Given the description of an element on the screen output the (x, y) to click on. 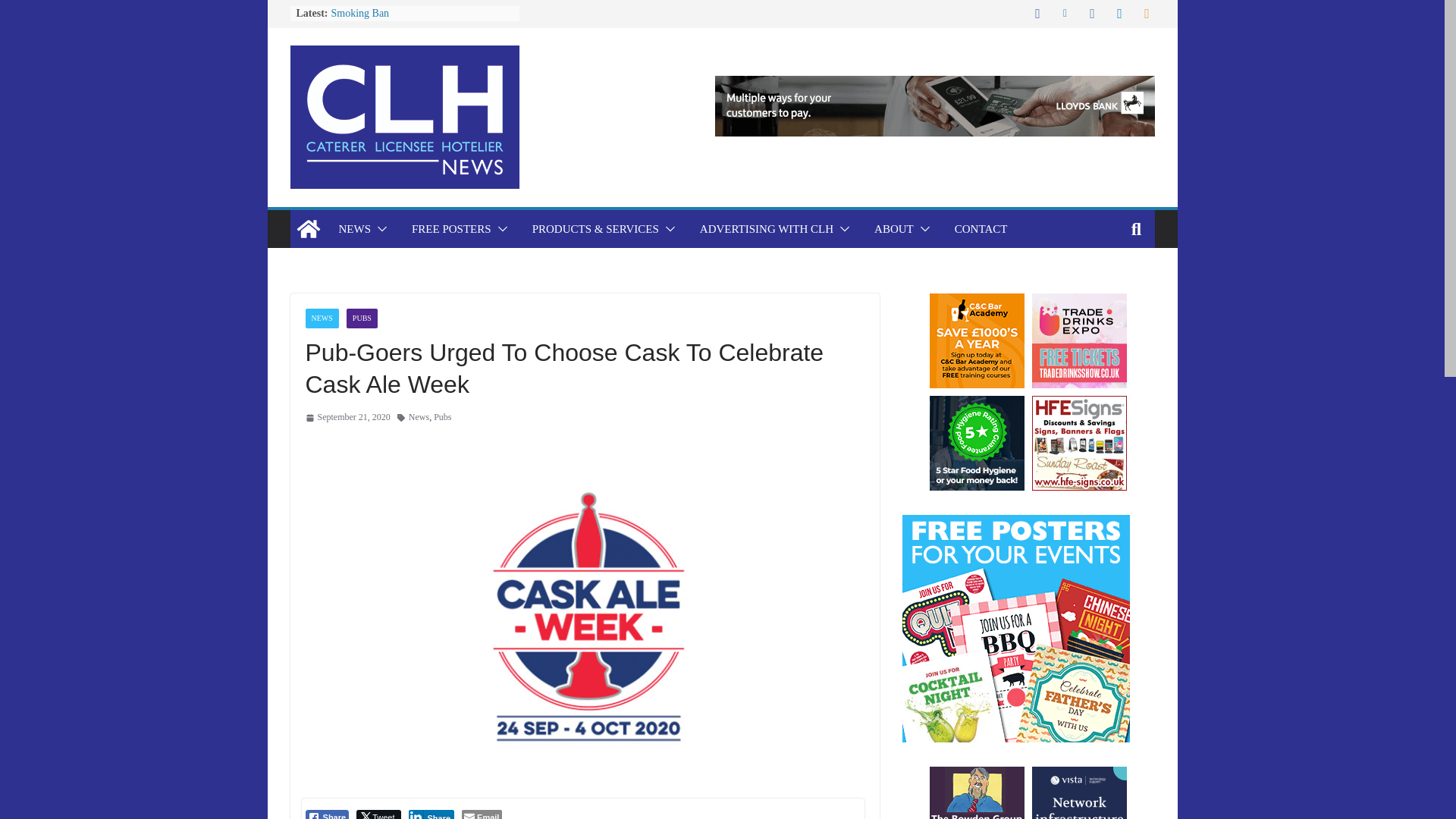
Leaked Government Plans to Extend Smoking Ban (408, 9)
12:37 pm (347, 417)
FREE POSTERS (452, 228)
CLH News: Caterer, Licensee and Hotelier News (307, 228)
Leaked Government Plans to Extend Smoking Ban (408, 9)
NEWS (354, 228)
